Given the description of an element on the screen output the (x, y) to click on. 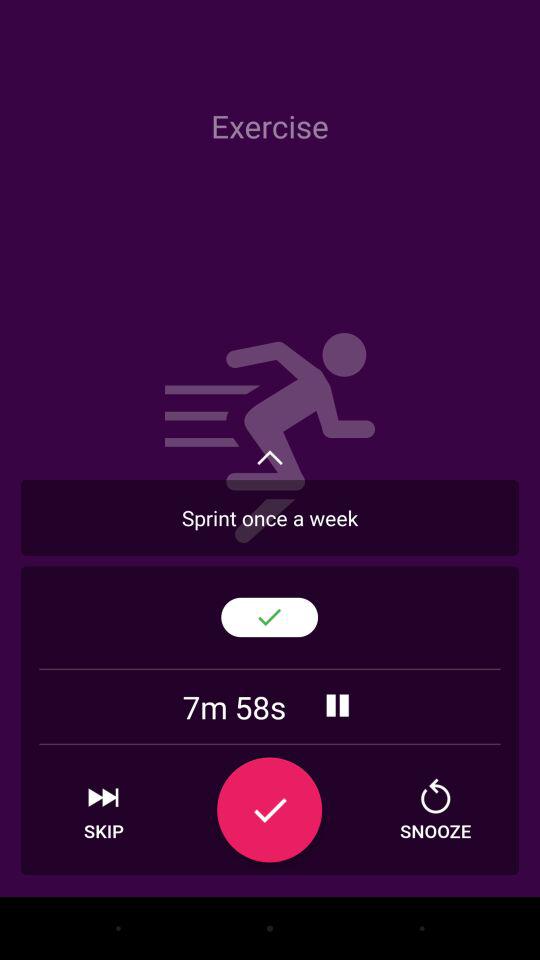
click on the skip button (103, 810)
option right to tick mark option (435, 810)
click on pink color button (269, 810)
move to the text written as sprint once a week (269, 517)
